Given the description of an element on the screen output the (x, y) to click on. 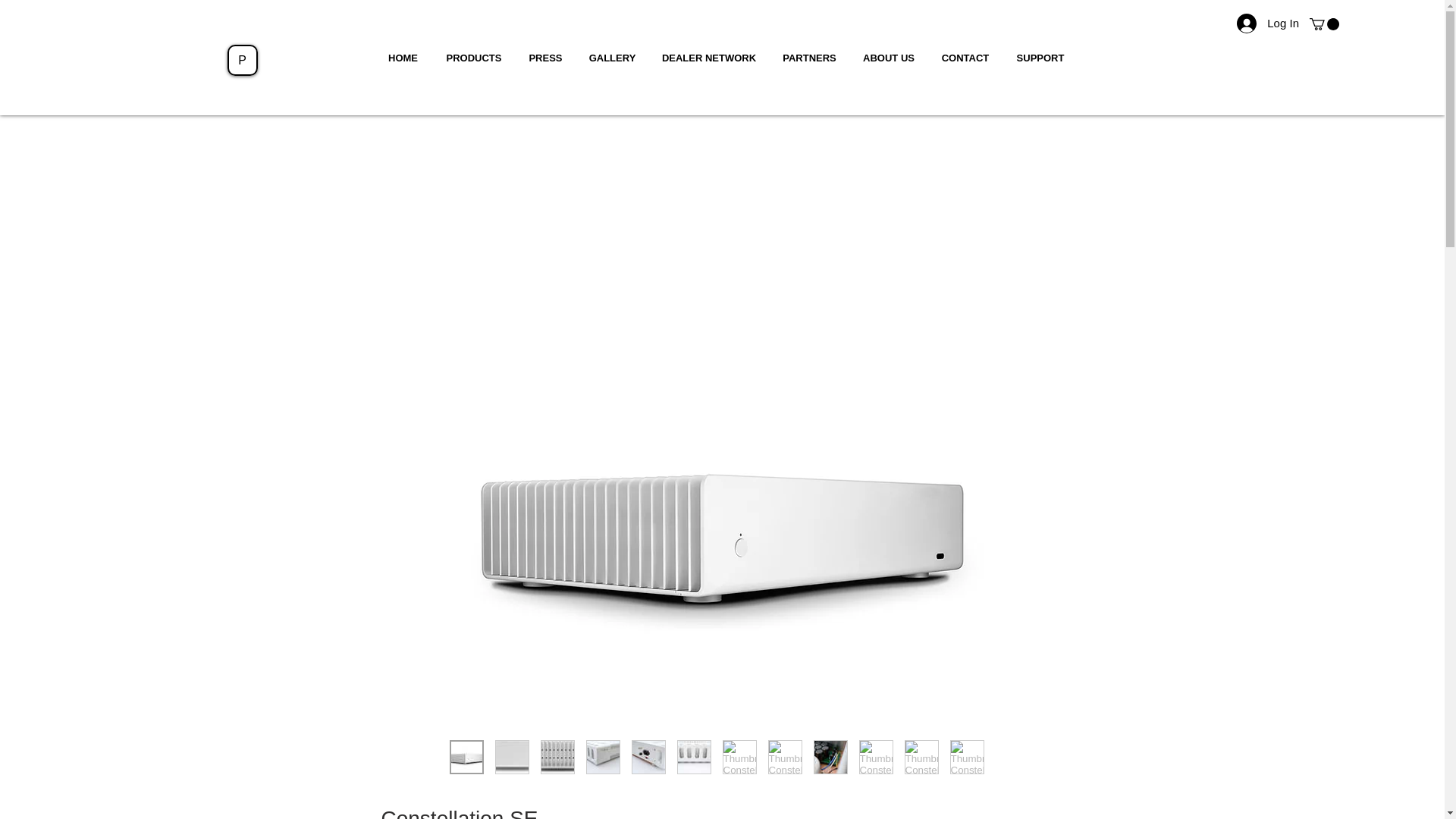
PARTNERS (808, 58)
ABOUT US (887, 58)
CONTACT (965, 58)
HOME (402, 58)
DEALER NETWORK (709, 58)
P (242, 60)
Log In (1266, 23)
GALLERY (612, 58)
